Given the description of an element on the screen output the (x, y) to click on. 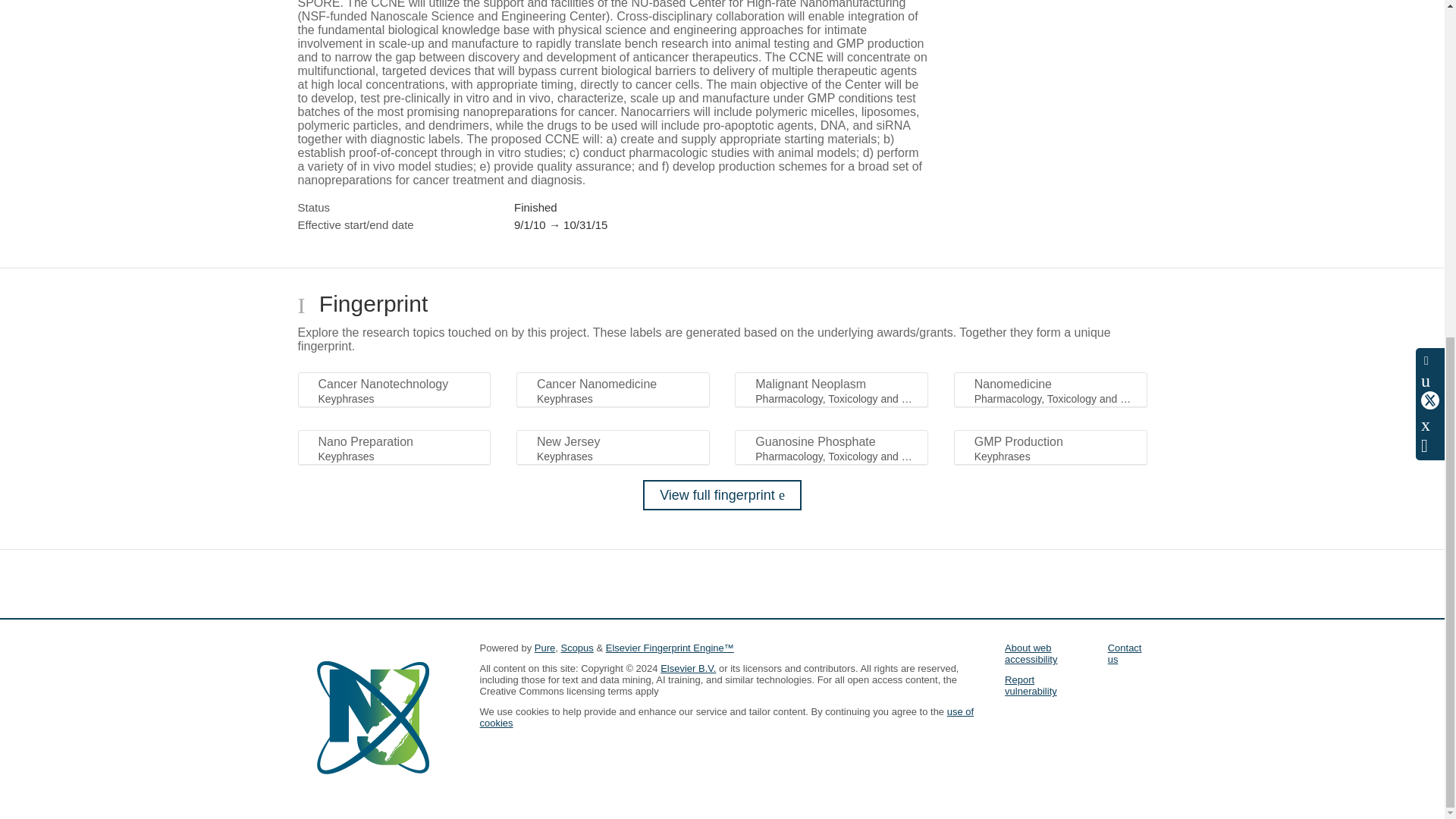
Scopus (576, 647)
Elsevier B.V. (688, 668)
use of cookies (726, 716)
View full fingerprint (722, 494)
Pure (544, 647)
